Given the description of an element on the screen output the (x, y) to click on. 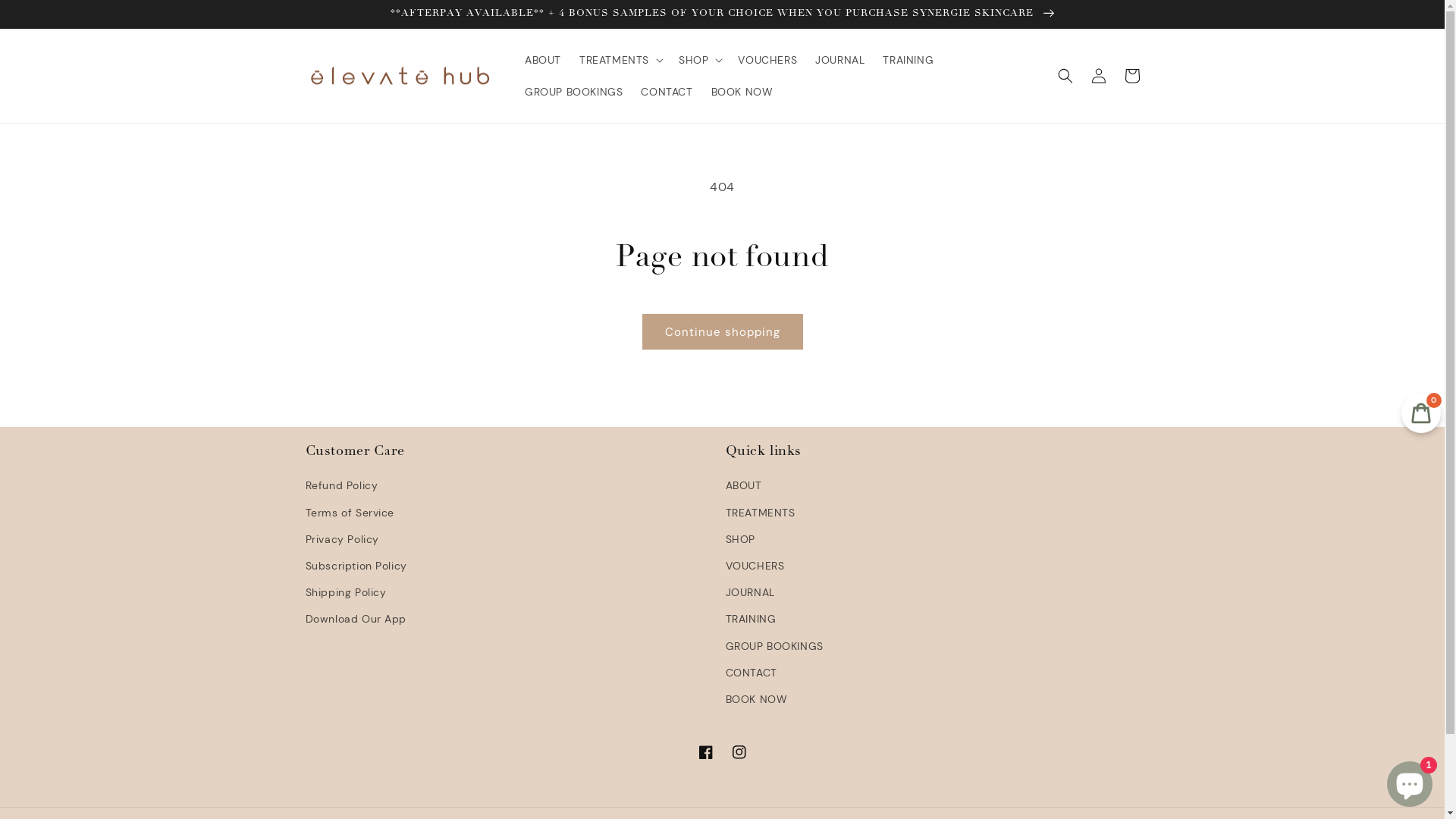
BOOK NOW Element type: text (742, 91)
Shipping Policy Element type: text (344, 592)
ABOUT Element type: text (742, 487)
VOUCHERS Element type: text (754, 565)
Facebook Element type: text (704, 751)
Refund Policy Element type: text (340, 487)
VOUCHERS Element type: text (767, 59)
GROUP BOOKINGS Element type: text (573, 91)
BOOK NOW Element type: text (755, 699)
Continue shopping Element type: text (721, 331)
TRAINING Element type: text (749, 618)
TRAINING Element type: text (907, 59)
Download Our App Element type: text (355, 618)
GROUP BOOKINGS Element type: text (773, 646)
Subscription Policy Element type: text (355, 565)
JOURNAL Element type: text (839, 59)
Shopify online store chat Element type: hover (1409, 780)
Instagram Element type: text (738, 751)
CONTACT Element type: text (750, 672)
Cart Element type: text (1131, 75)
Log in Element type: text (1097, 75)
Terms of Service Element type: text (349, 512)
ABOUT Element type: text (542, 59)
Privacy Policy Element type: text (341, 539)
SHOP Element type: text (739, 539)
CONTACT Element type: text (666, 91)
TREATMENTS Element type: text (759, 512)
JOURNAL Element type: text (749, 592)
